Given the description of an element on the screen output the (x, y) to click on. 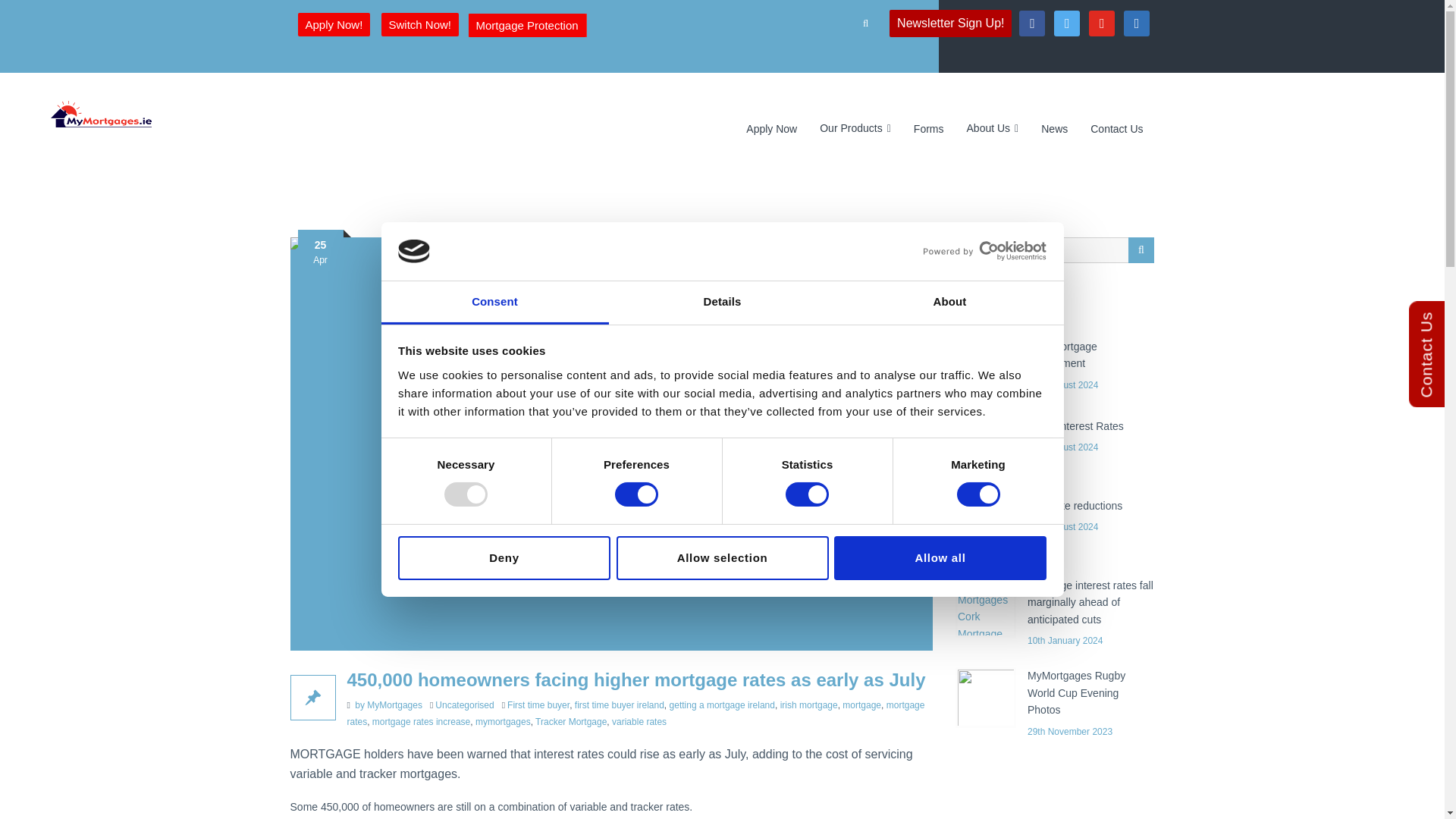
Consent (494, 302)
About (948, 302)
Details (721, 302)
